Given the description of an element on the screen output the (x, y) to click on. 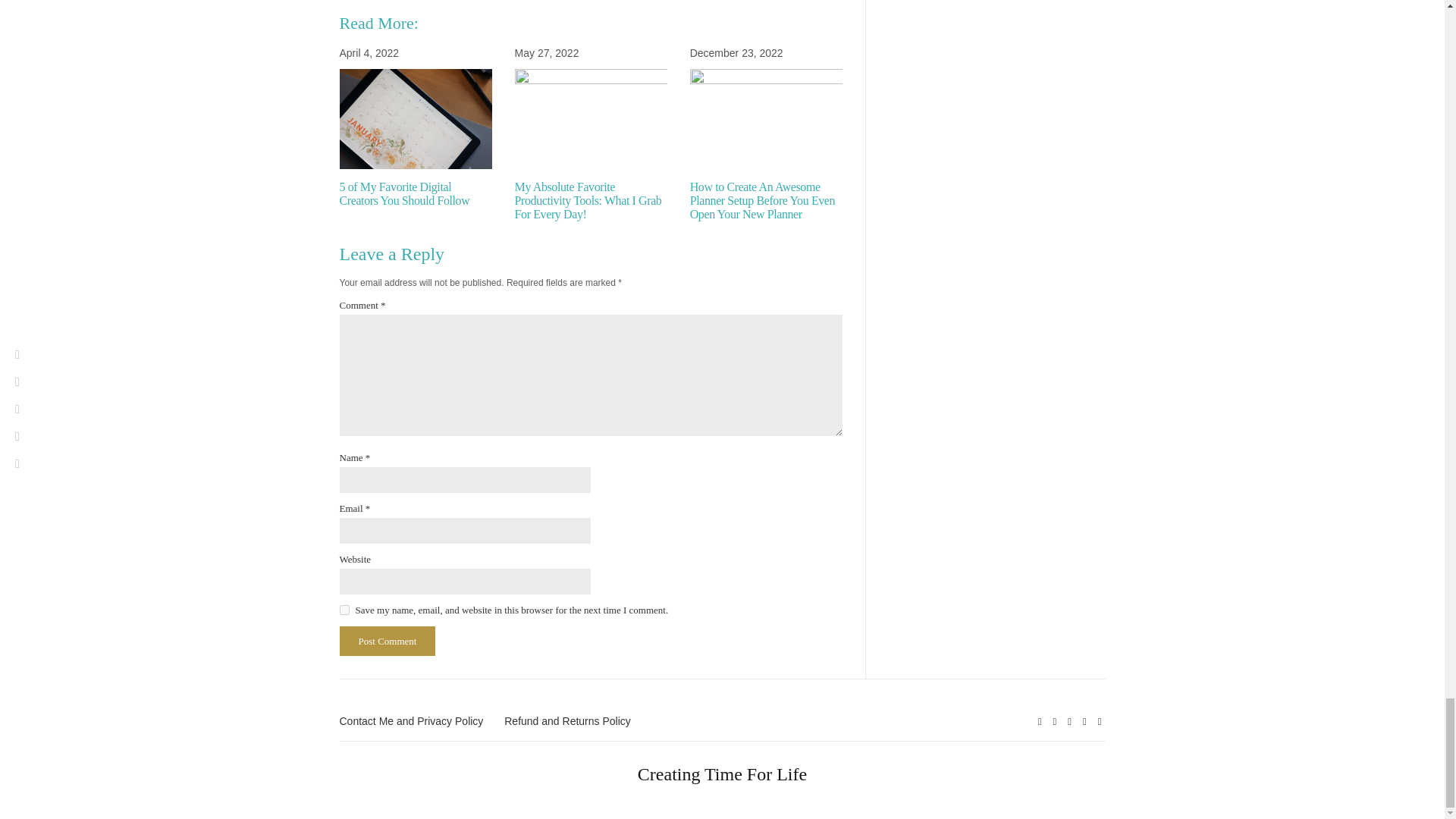
yes (344, 610)
Post Comment (387, 641)
